Given the description of an element on the screen output the (x, y) to click on. 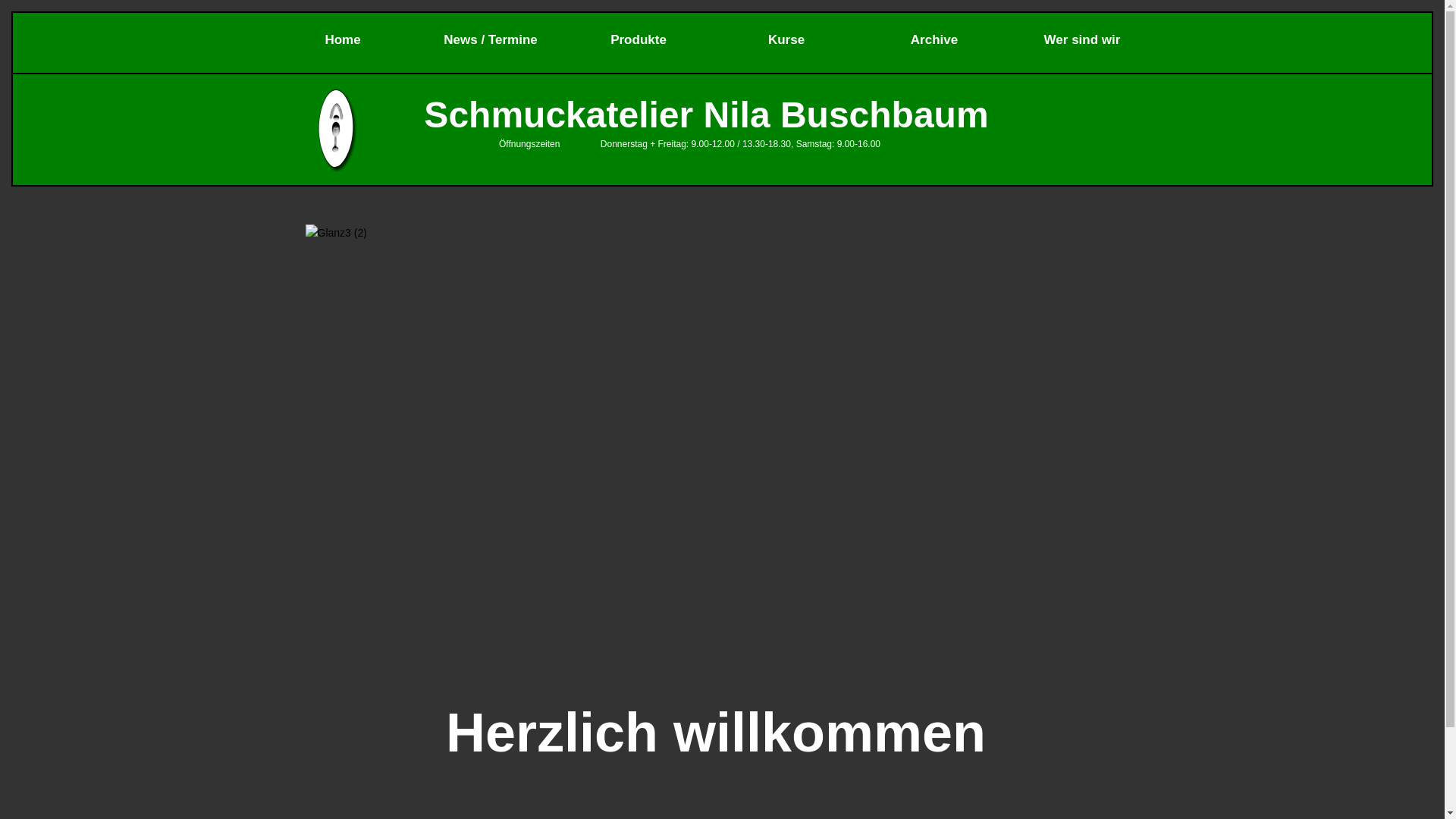
Archive Element type: text (933, 38)
Home Element type: text (342, 38)
Produkte Element type: text (638, 38)
Wer sind wir Element type: text (1082, 38)
Kurse Element type: text (786, 38)
News / Termine Element type: text (490, 38)
